Given the description of an element on the screen output the (x, y) to click on. 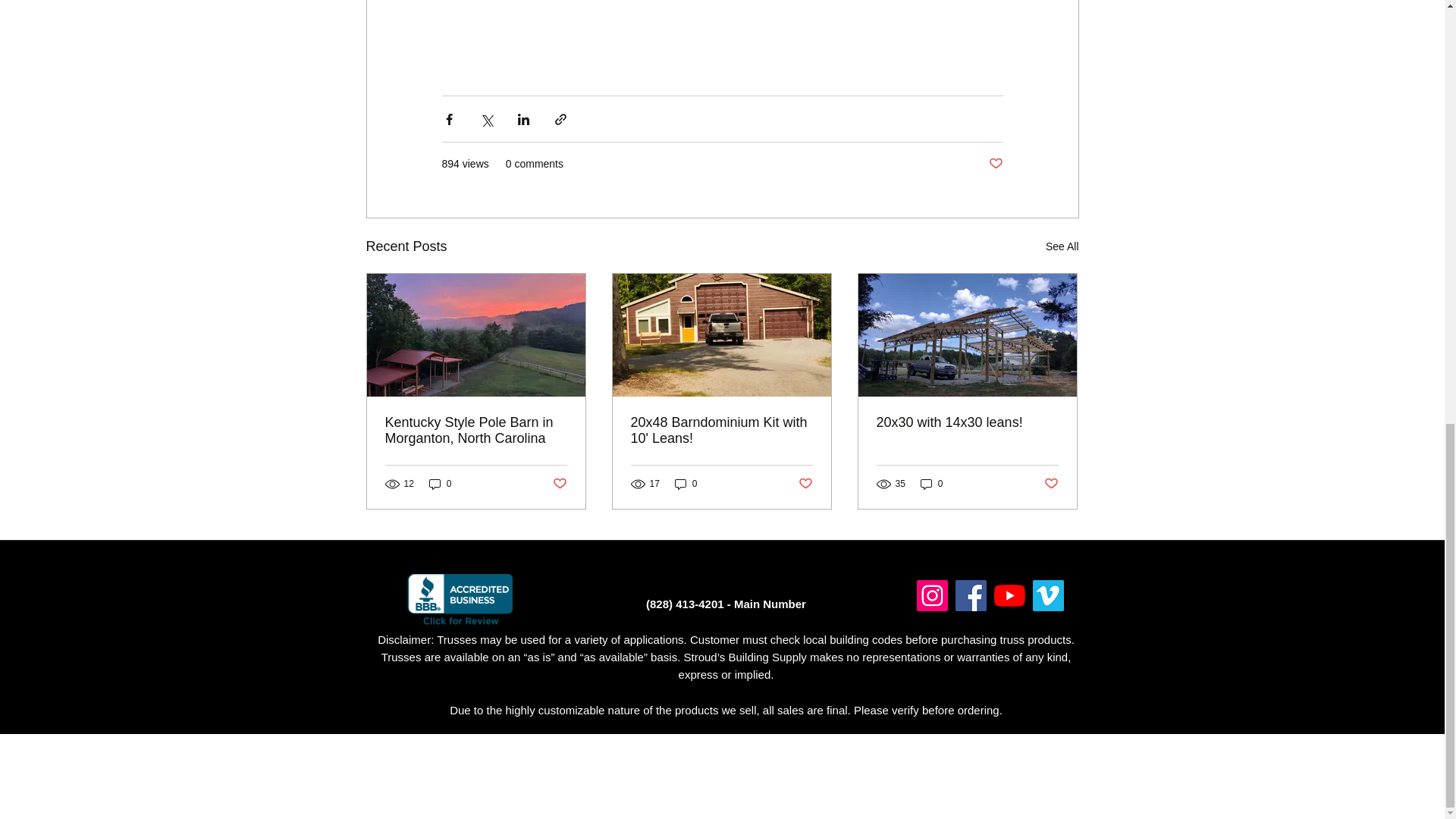
Kentucky Style Pole Barn in Morganton, North Carolina (476, 430)
See All (1061, 246)
Post not marked as liked (558, 483)
0 (440, 483)
20x48 Barndominium Kit with 10' Leans! (721, 430)
0 (685, 483)
Post not marked as liked (804, 483)
Post not marked as liked (1050, 483)
20x30 with 14x30 leans! (967, 422)
0 (931, 483)
Post not marked as liked (995, 163)
